Given the description of an element on the screen output the (x, y) to click on. 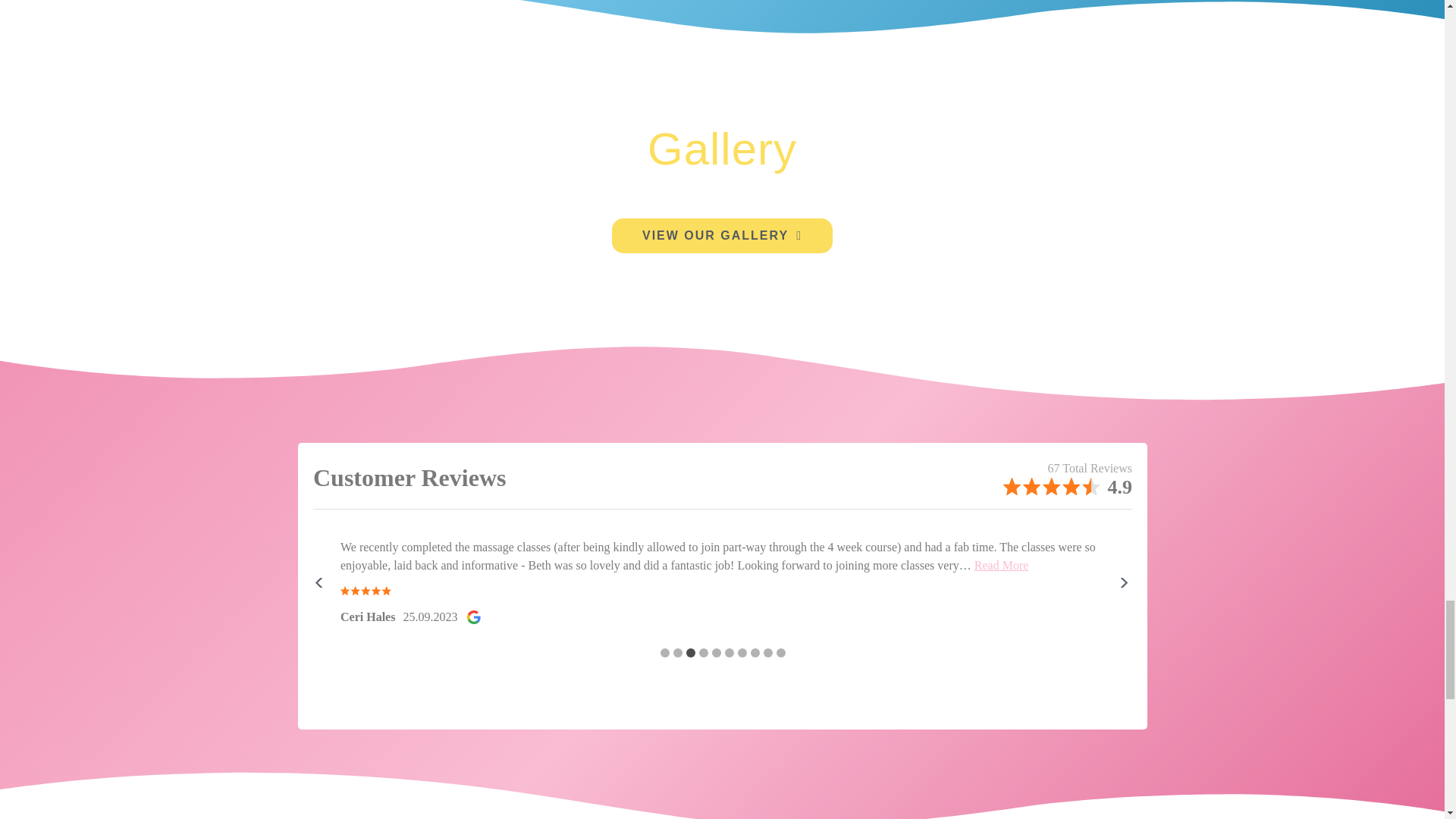
VIEW OUR GALLERY (721, 235)
